Given the description of an element on the screen output the (x, y) to click on. 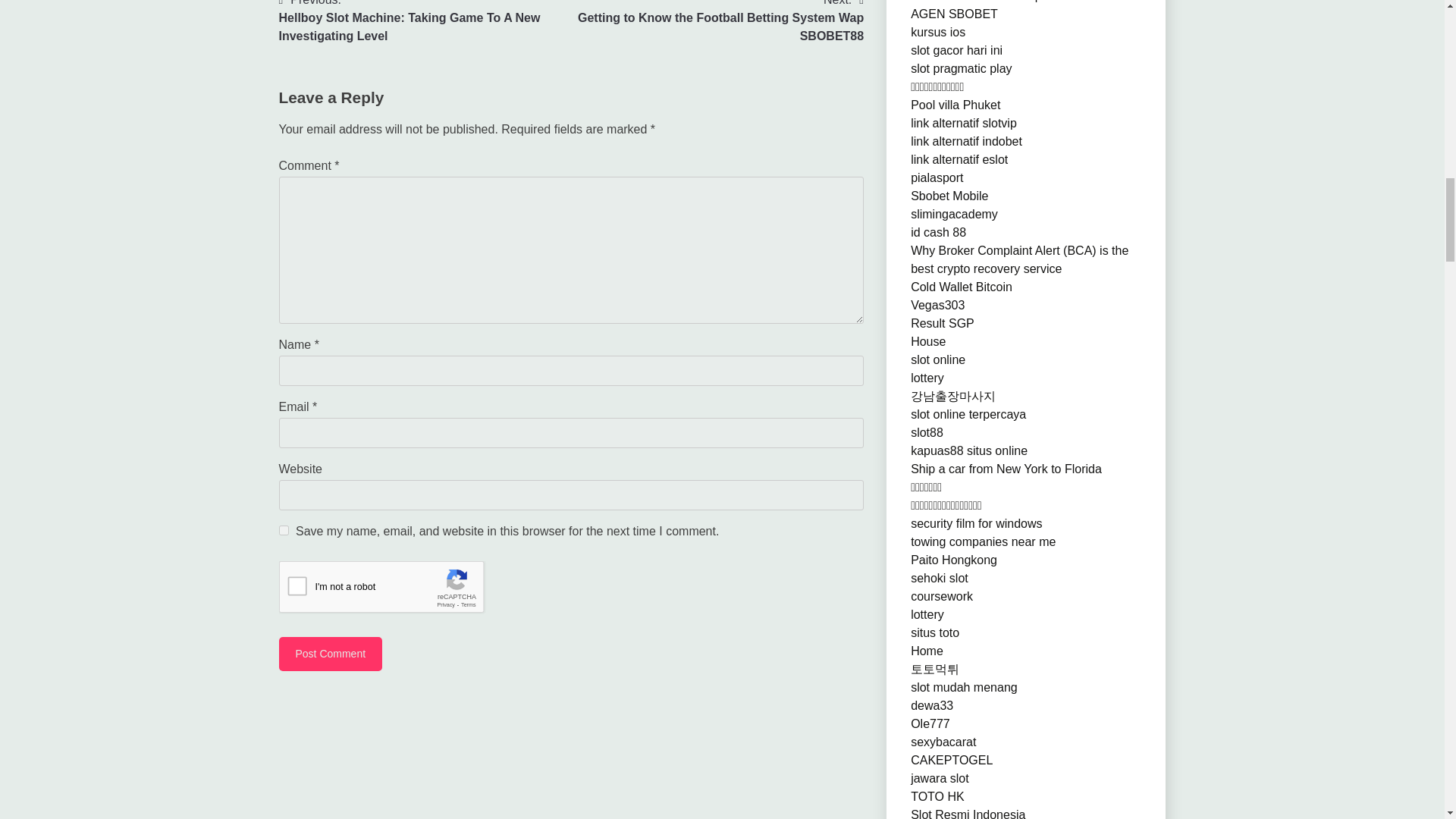
Post Comment (330, 653)
reCAPTCHA (394, 590)
Post Comment (330, 653)
yes (283, 530)
